Given the description of an element on the screen output the (x, y) to click on. 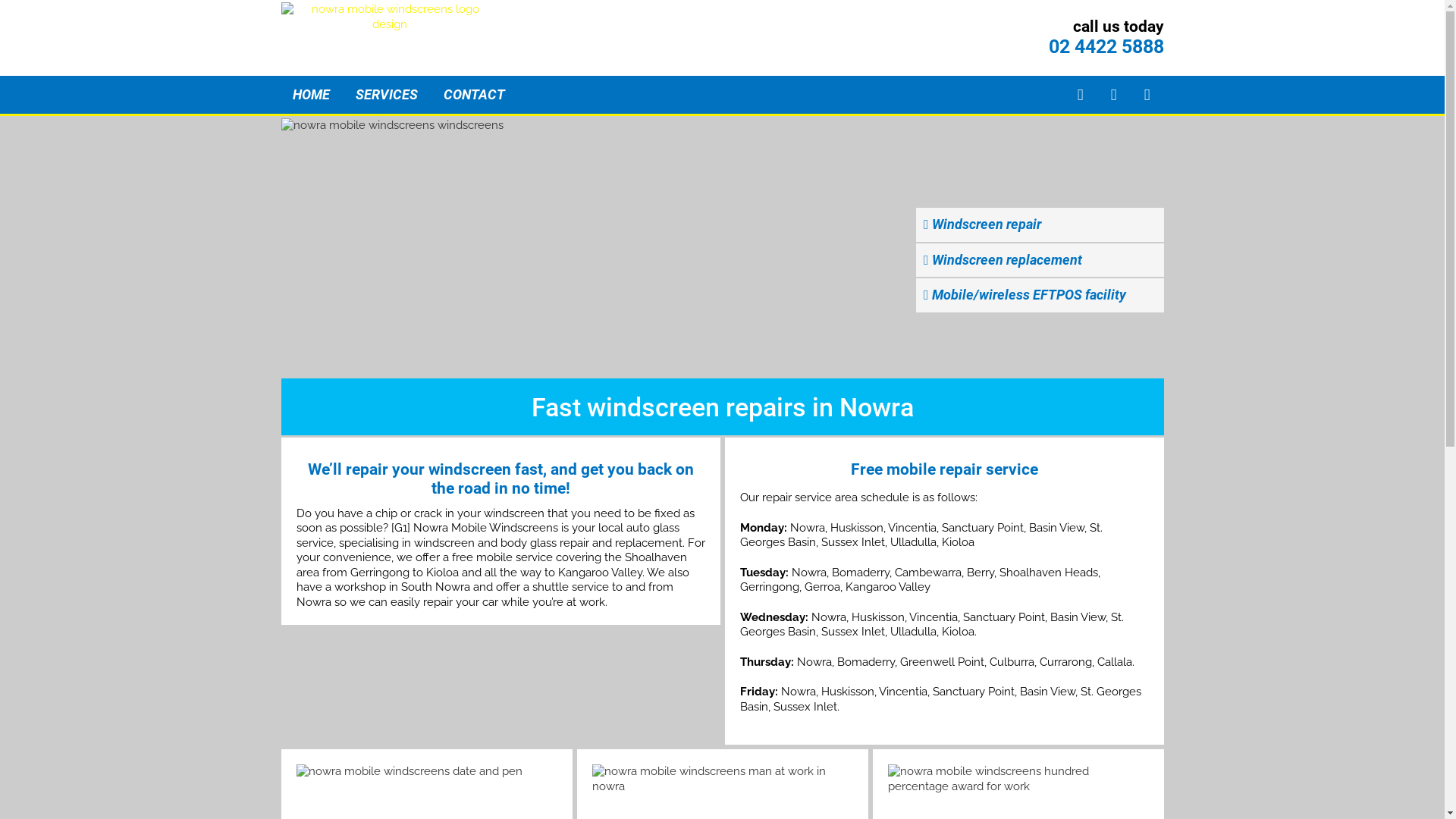
nowra mobile windscreens windscreens Element type: hover (721, 247)
SERVICES Element type: text (385, 94)
HOME Element type: text (310, 94)
02 4422 5888 Element type: text (1105, 46)
nowra mobile windscreens logo design Element type: hover (389, 16)
CONTACT Element type: text (473, 94)
